Given the description of an element on the screen output the (x, y) to click on. 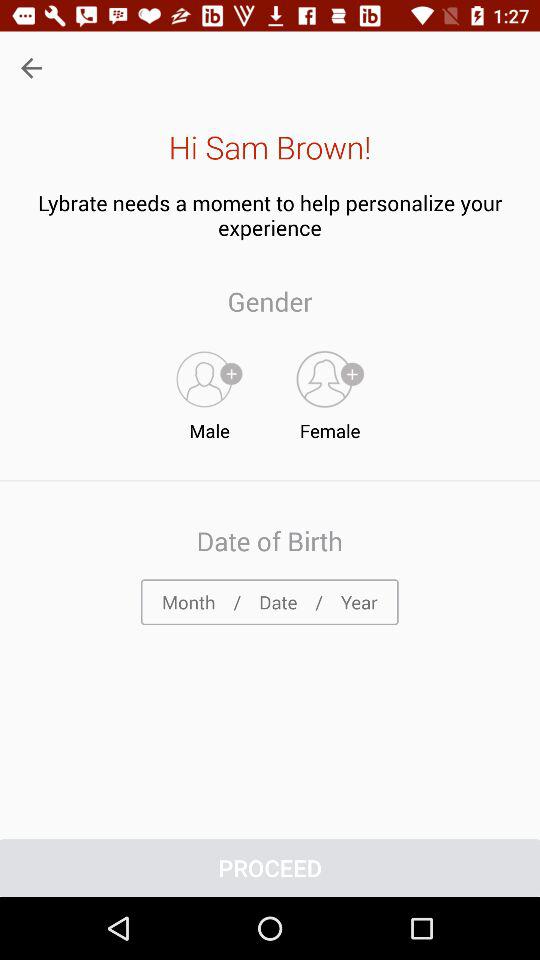
choose item below date of birth item (269, 602)
